Given the description of an element on the screen output the (x, y) to click on. 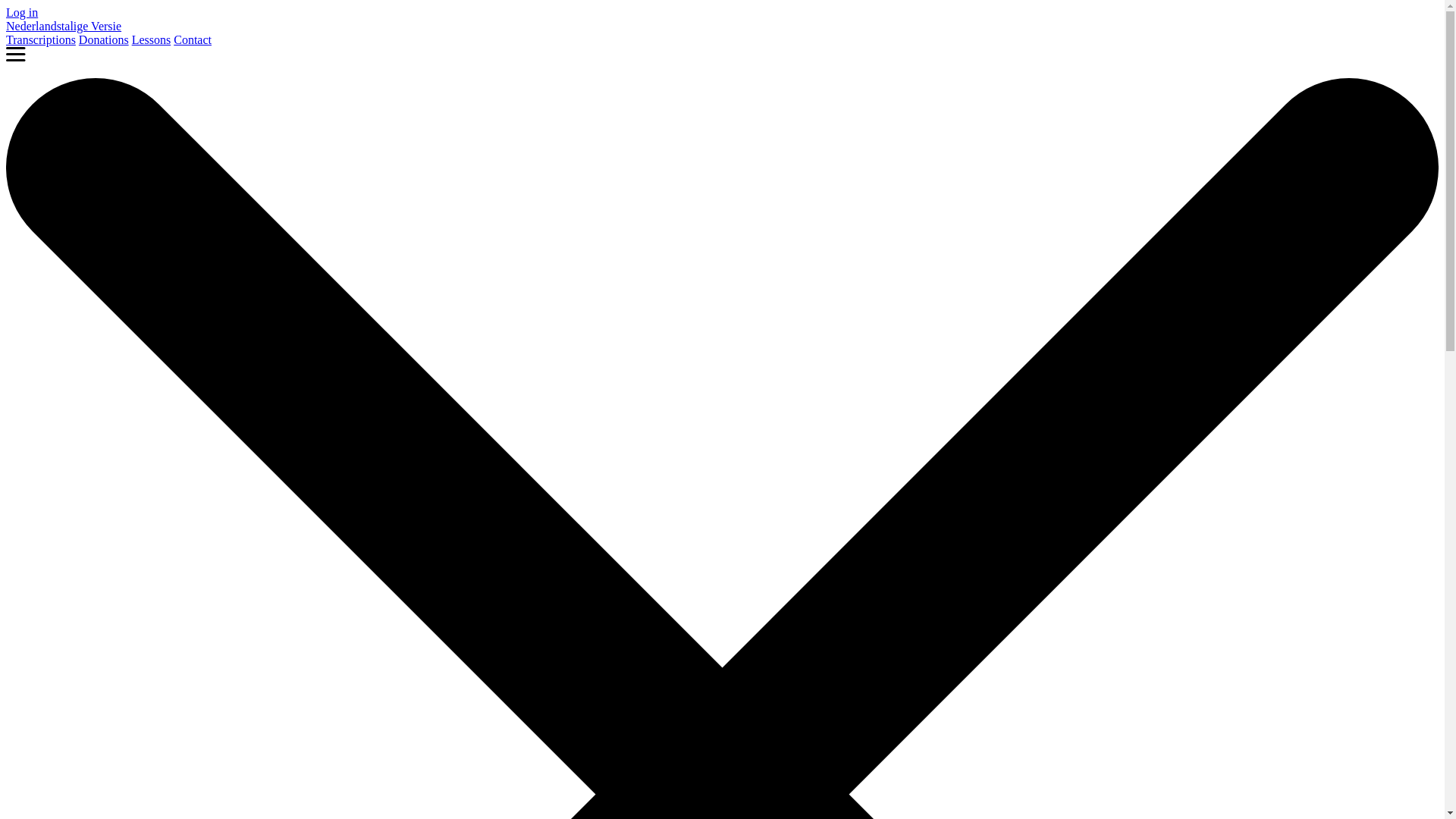
Donations Element type: text (103, 39)
Log in Element type: text (21, 12)
Lessons Element type: text (151, 39)
Transcriptions Element type: text (40, 39)
Contact Element type: text (192, 39)
Nederlandstalige Versie Element type: text (63, 25)
